Given the description of an element on the screen output the (x, y) to click on. 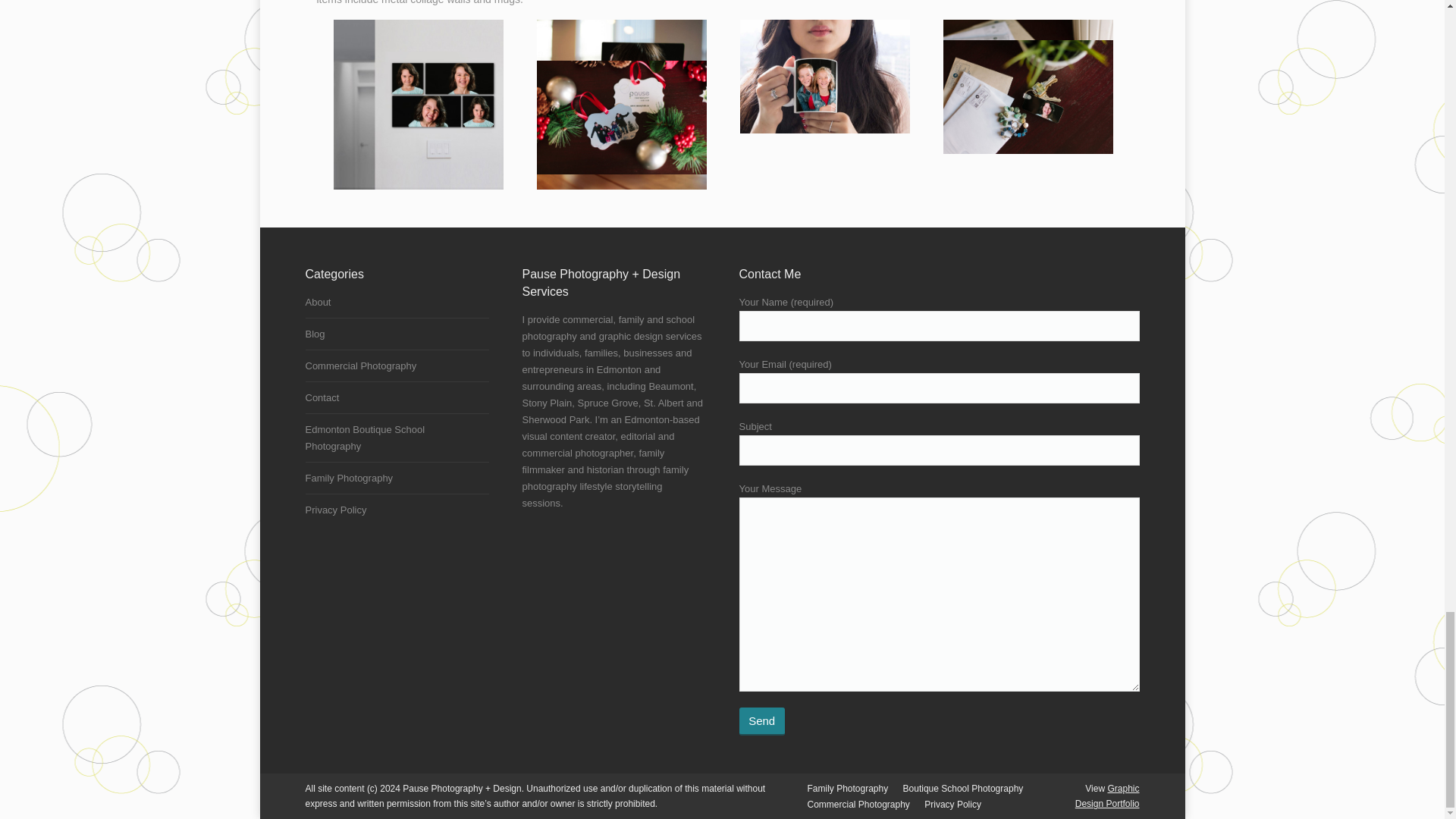
Send (761, 721)
